Given the description of an element on the screen output the (x, y) to click on. 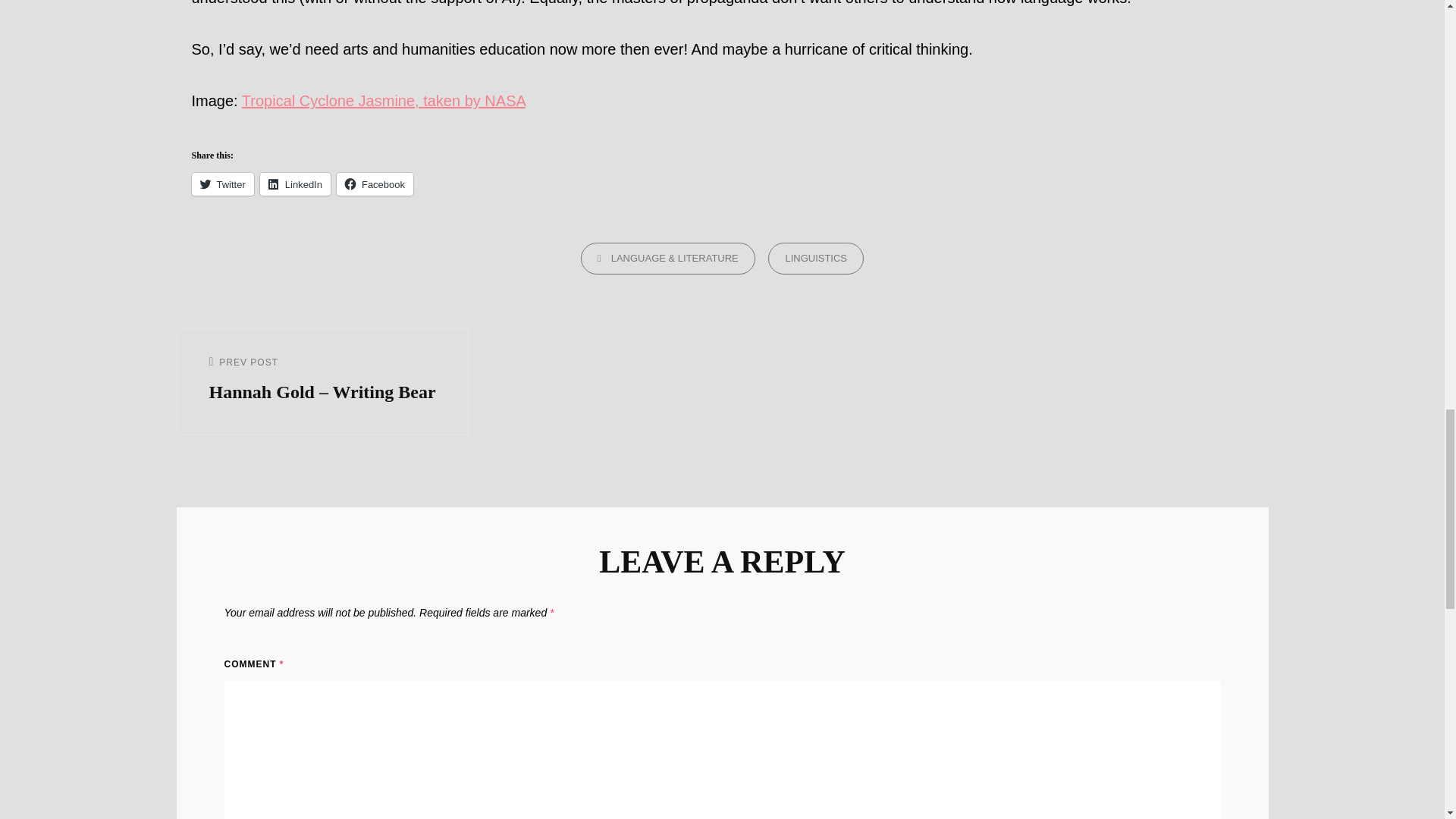
LINGUISTICS (815, 258)
Click to share on Facebook (374, 183)
Twitter (221, 183)
Click to share on LinkedIn (295, 183)
LinkedIn (295, 183)
Facebook (374, 183)
Click to share on Twitter (221, 183)
Tropical Cyclone Jasmine, taken by NASA (383, 100)
